Given the description of an element on the screen output the (x, y) to click on. 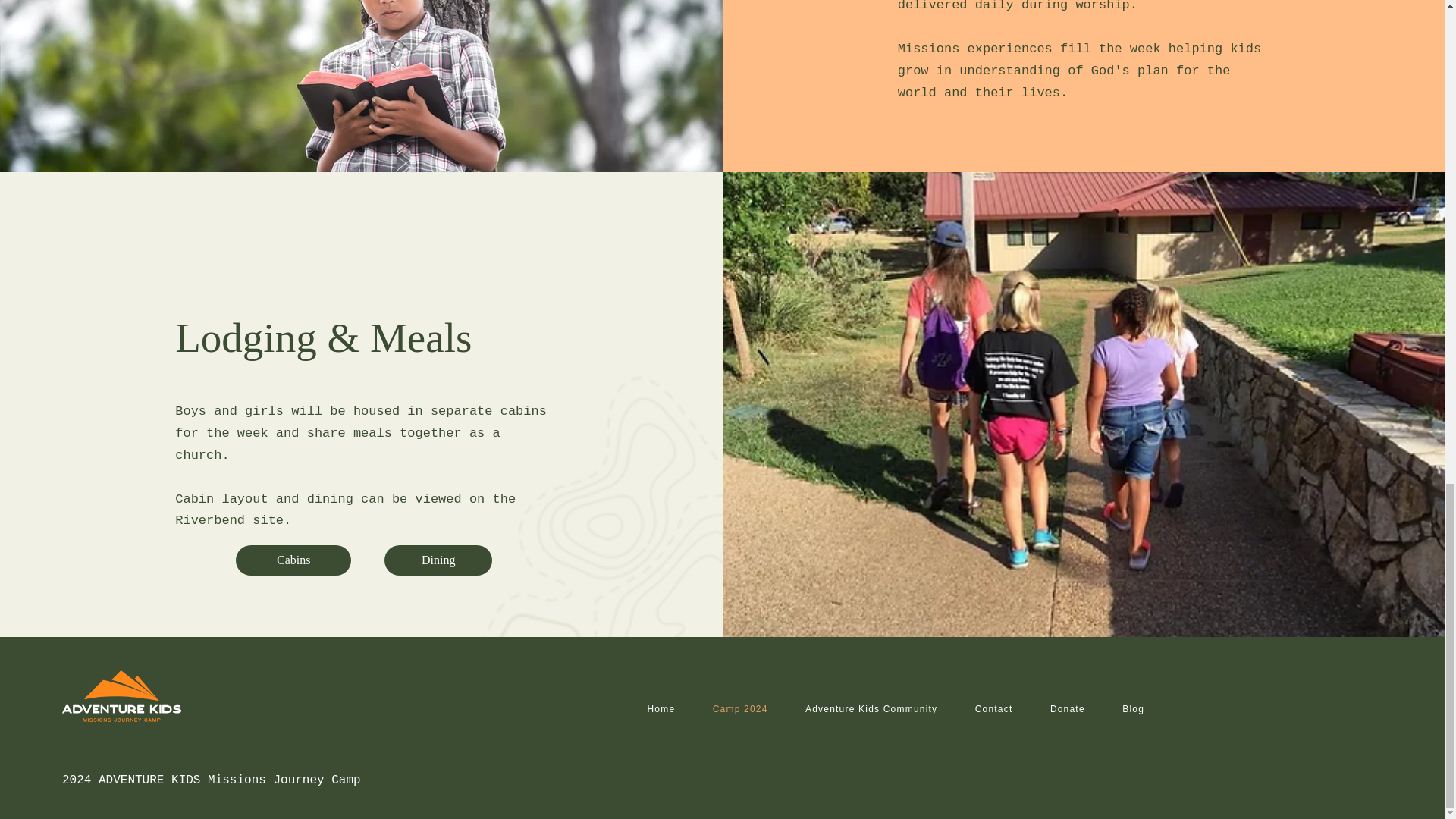
Camp 2024 (748, 708)
Blog (1141, 708)
Home (669, 708)
Adventure Kids Community (878, 708)
Cabins (292, 560)
Dining (438, 560)
Contact (1002, 708)
Donate (1075, 708)
